Given the description of an element on the screen output the (x, y) to click on. 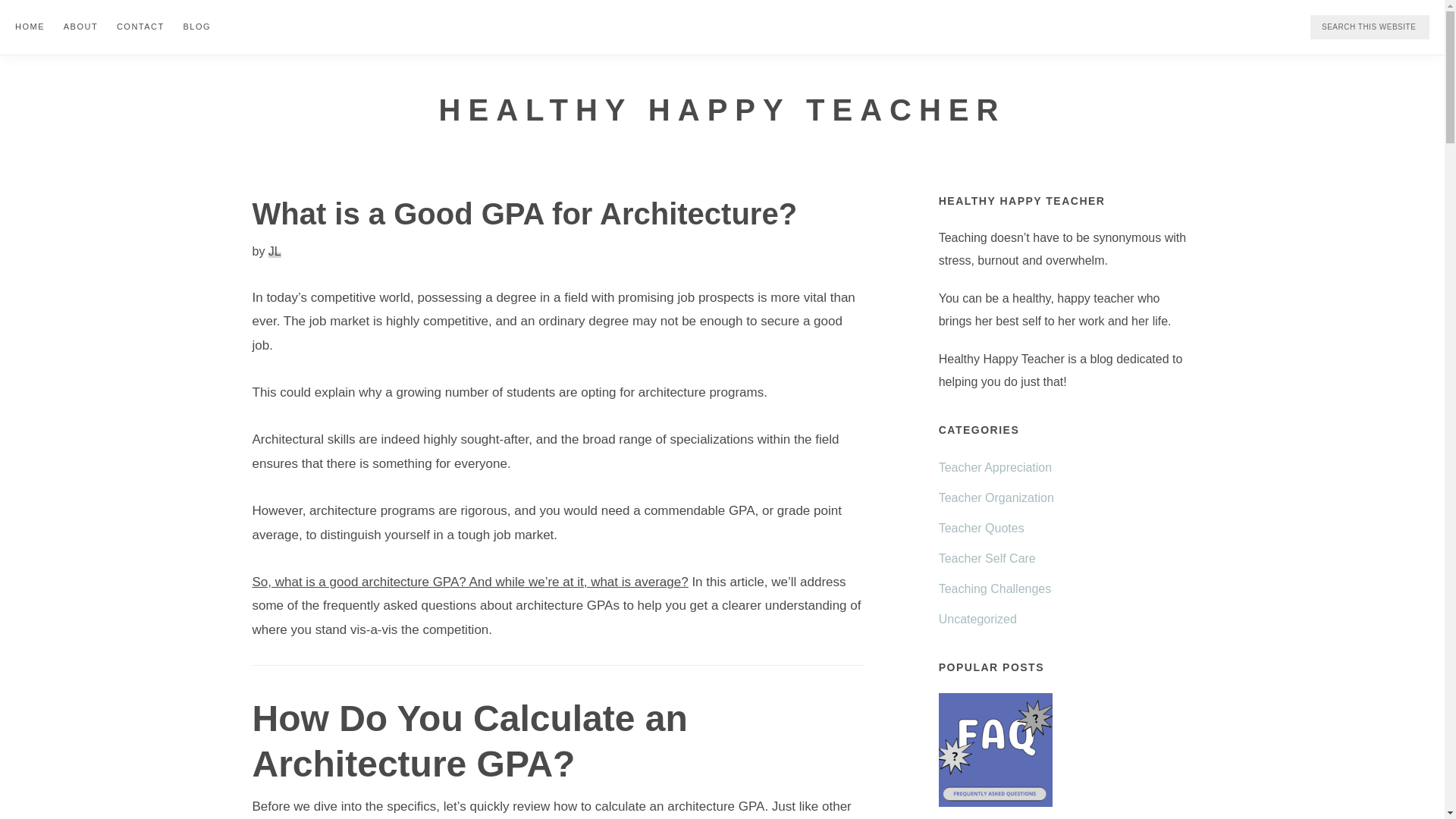
JL (274, 250)
CONTACT (140, 26)
Teacher Self Care (987, 558)
Teacher Quotes (982, 527)
Uncategorized (977, 618)
HEALTHY HAPPY TEACHER (722, 109)
Teacher Organization (996, 497)
